Given the description of an element on the screen output the (x, y) to click on. 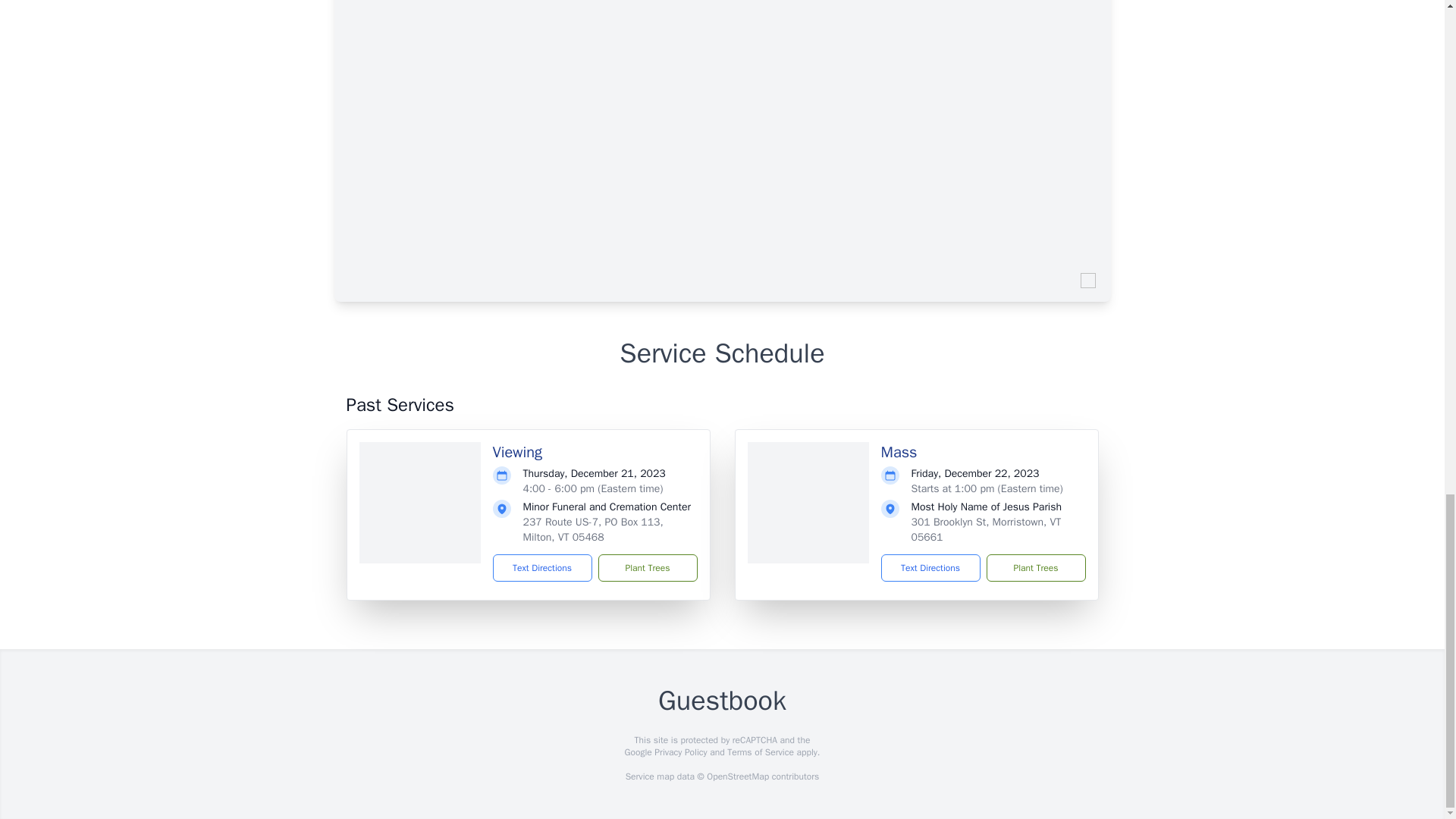
Privacy Policy (679, 752)
Text Directions (542, 567)
Plant Trees (1034, 567)
OpenStreetMap (737, 776)
237 Route US-7, PO Box 113, Milton, VT 05468 (592, 529)
301 Brooklyn St, Morristown, VT 05661 (986, 529)
Terms of Service (759, 752)
Plant Trees (646, 567)
Text Directions (929, 567)
